Given the description of an element on the screen output the (x, y) to click on. 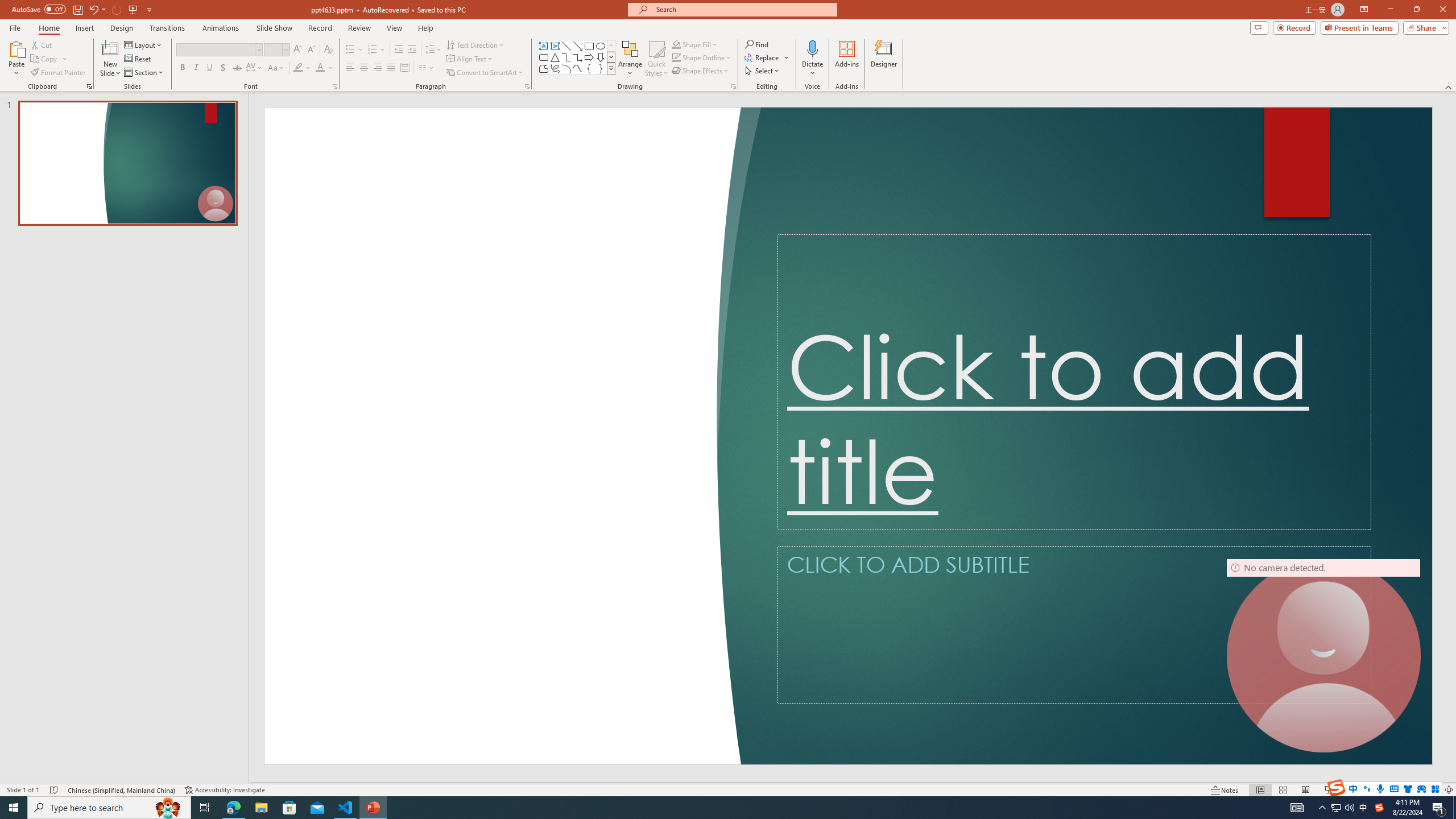
Section (144, 72)
Change Case (276, 67)
AutomationID: ShapesInsertGallery (576, 57)
Shape Fill (694, 44)
Zoom 161% (1430, 790)
Arrange (630, 58)
Shape Outline (701, 56)
Connector: Elbow Arrow (577, 57)
Office Clipboard... (88, 85)
Cut (42, 44)
